Given the description of an element on the screen output the (x, y) to click on. 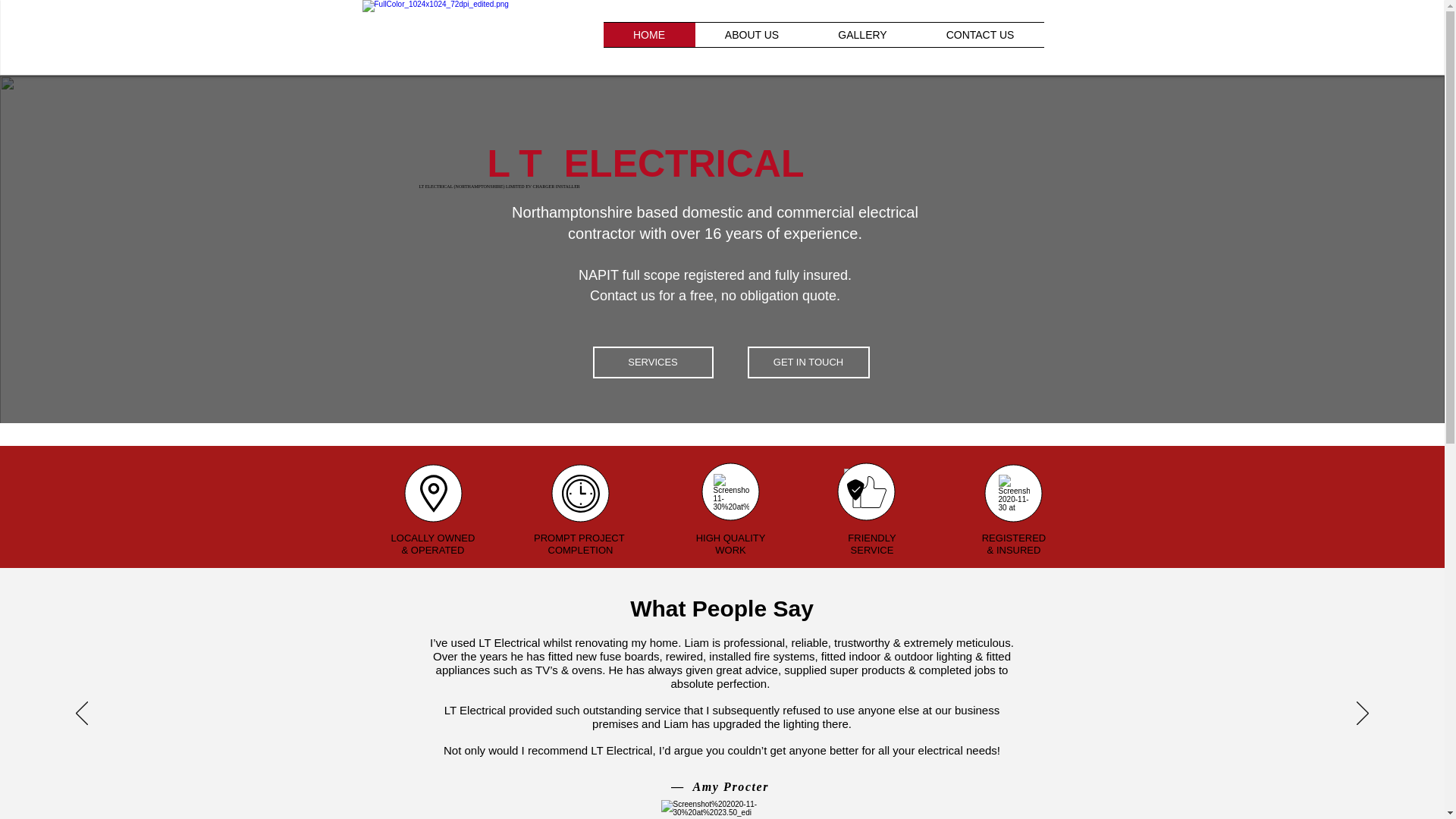
HOME (649, 34)
CONTACT US (979, 34)
GET IN TOUCH (808, 362)
GALLERY (861, 34)
ABOUT US (751, 34)
SERVICES (652, 362)
